Given the description of an element on the screen output the (x, y) to click on. 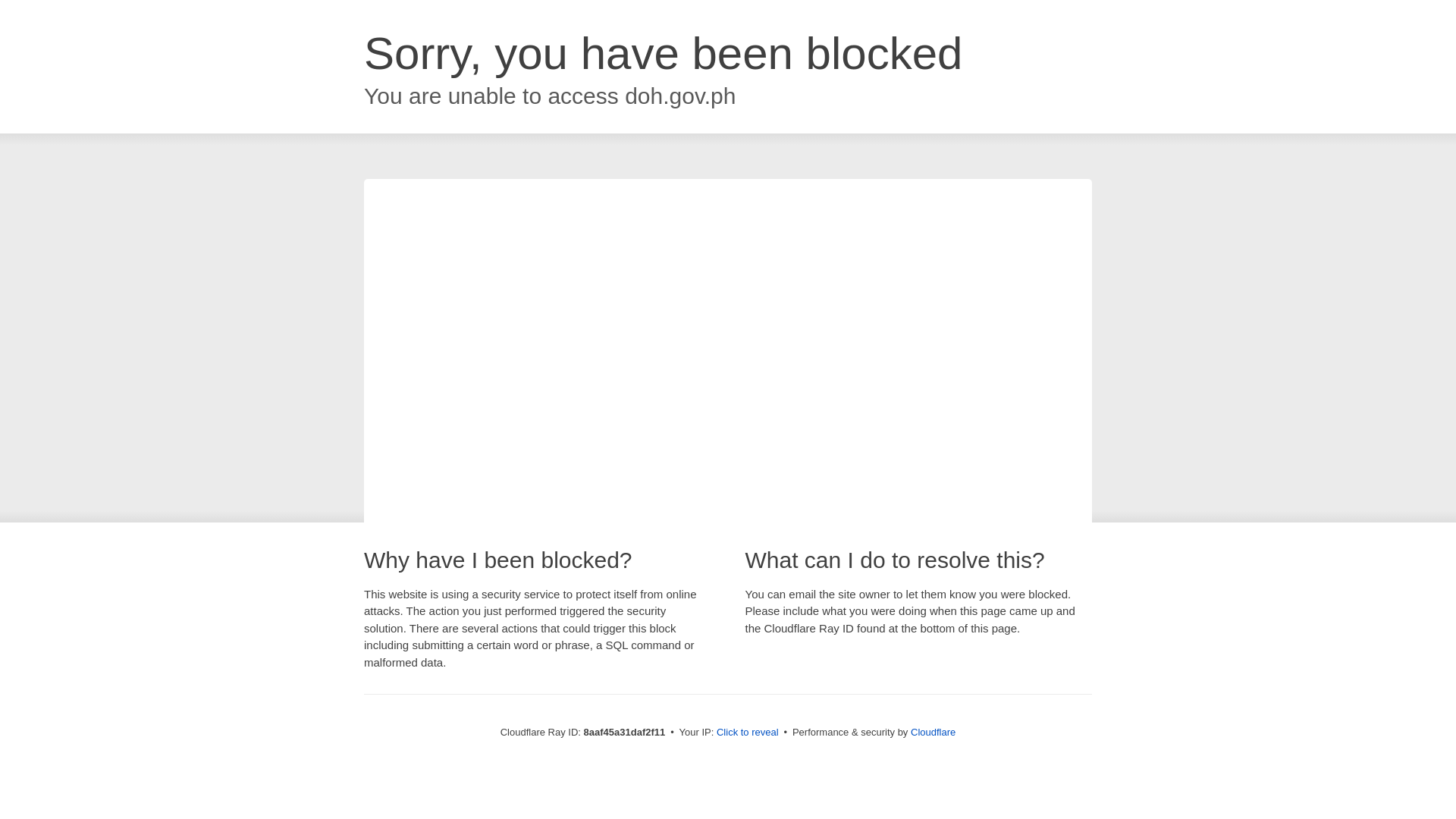
Cloudflare (933, 731)
Click to reveal (747, 732)
